Given the description of an element on the screen output the (x, y) to click on. 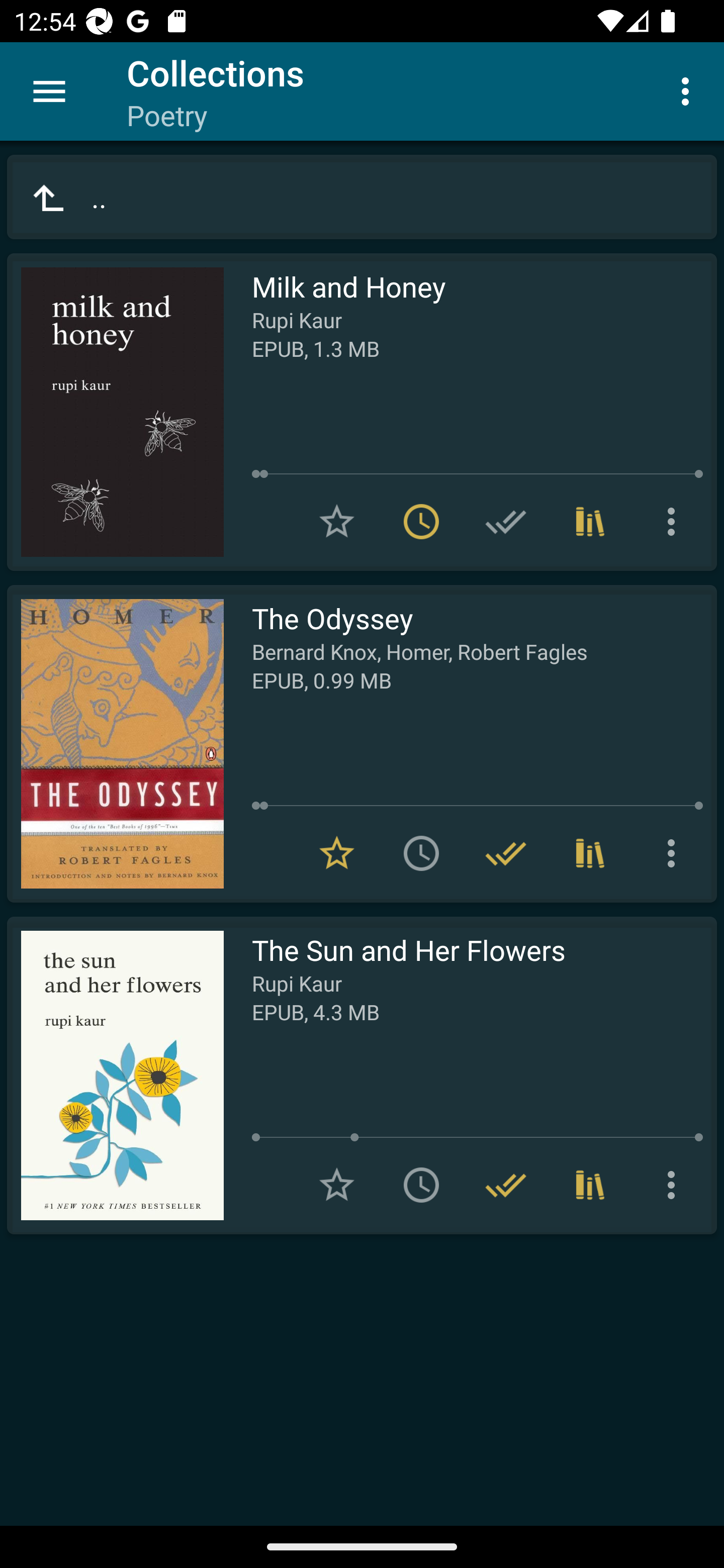
Menu (49, 91)
More options (688, 90)
.. (361, 197)
Read Milk and Honey (115, 412)
Add to Favorites (336, 521)
Remove from To read (421, 521)
Add to Have read (505, 521)
Collections (2) (590, 521)
More options (674, 521)
Read The Odyssey (115, 743)
Remove from Favorites (336, 852)
Add to To read (421, 852)
Remove from Have read (505, 852)
Collections (2) (590, 852)
More options (674, 852)
Read The Sun and Her Flowers (115, 1075)
Add to Favorites (336, 1185)
Add to To read (421, 1185)
Remove from Have read (505, 1185)
Collections (1) (590, 1185)
More options (674, 1185)
